Given the description of an element on the screen output the (x, y) to click on. 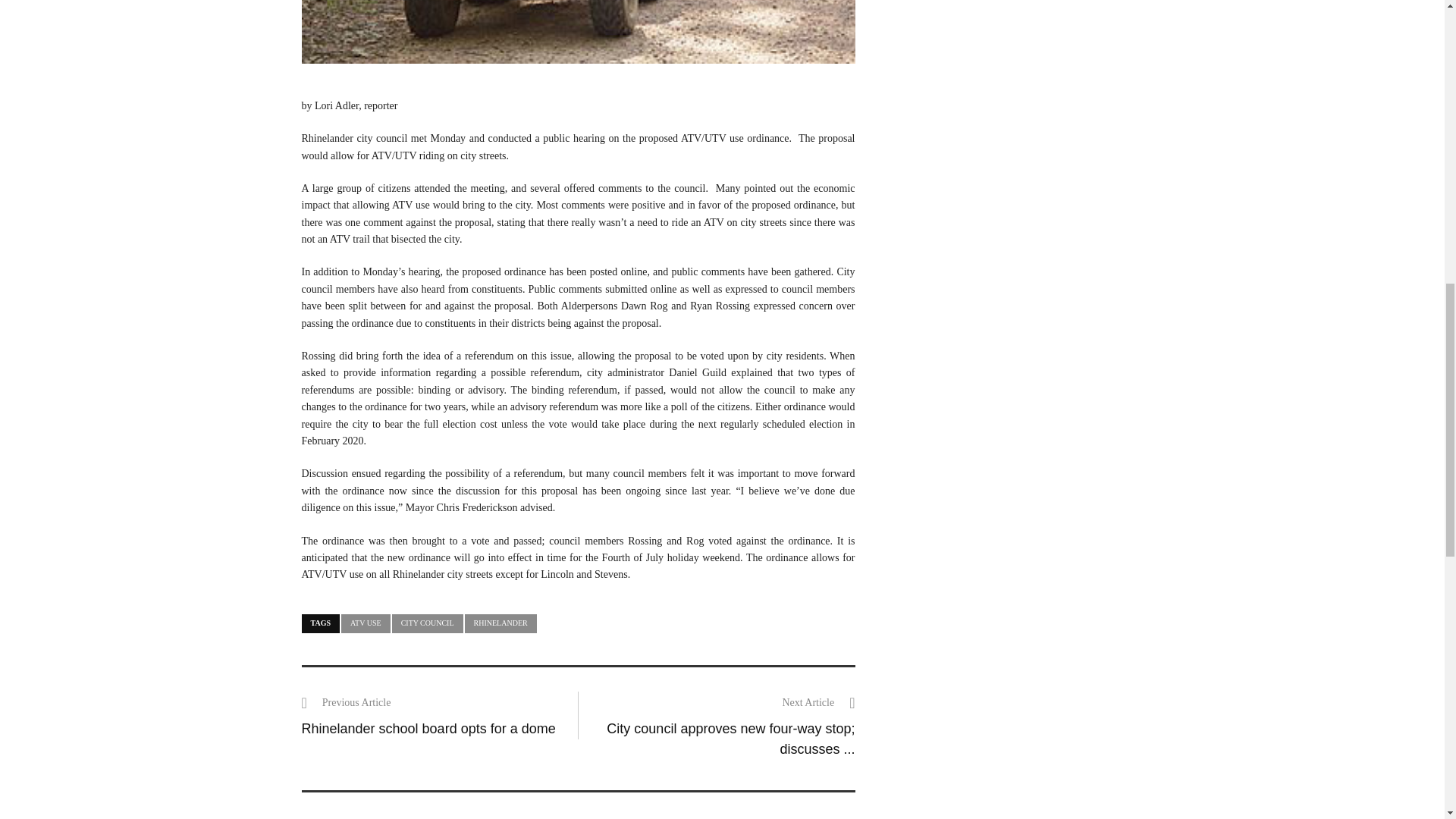
View all posts tagged city council (427, 623)
View all posts tagged atv use (365, 623)
View all posts tagged Rhinelander (500, 623)
